Given the description of an element on the screen output the (x, y) to click on. 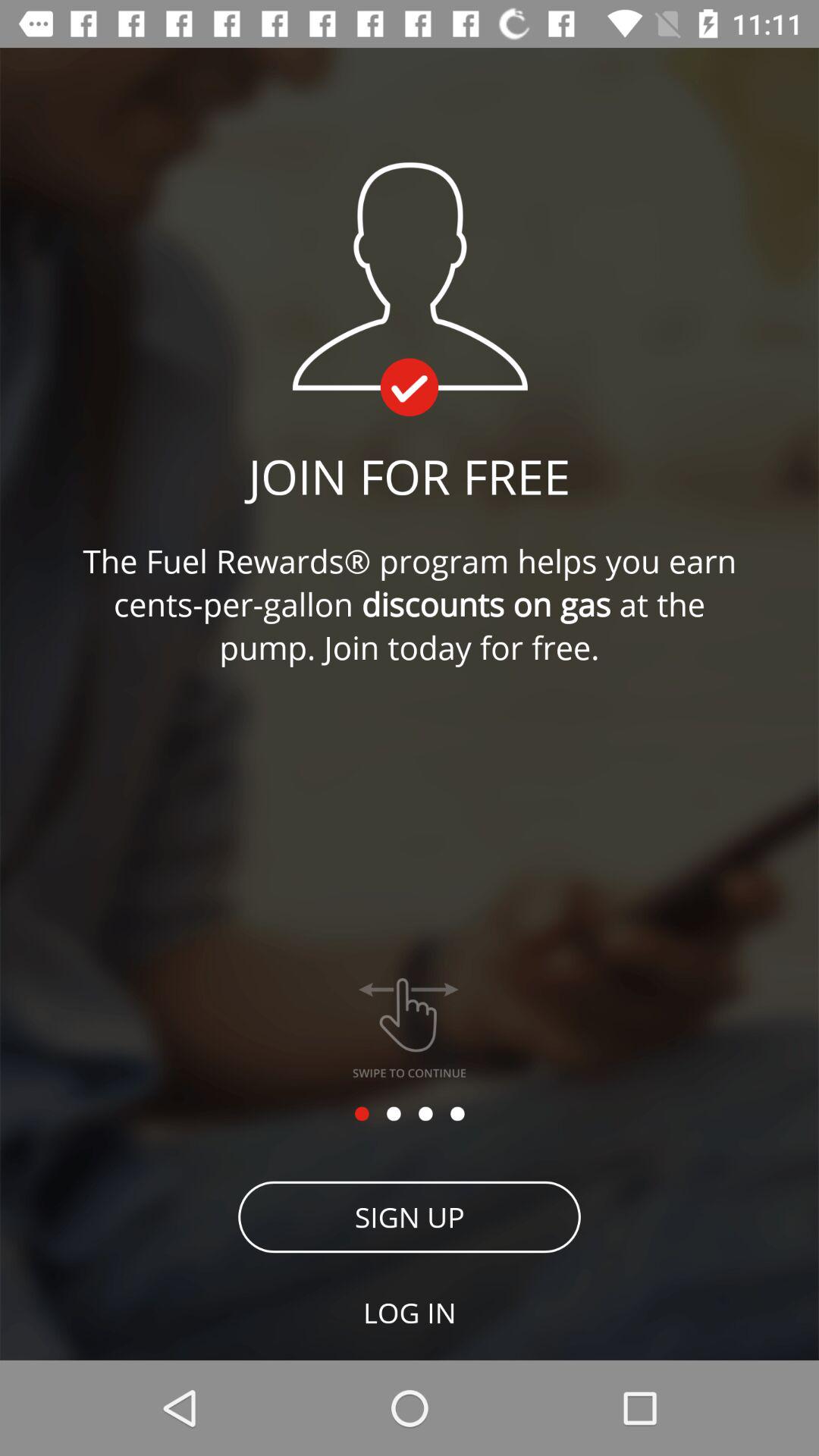
turn on the log in item (409, 1312)
